Given the description of an element on the screen output the (x, y) to click on. 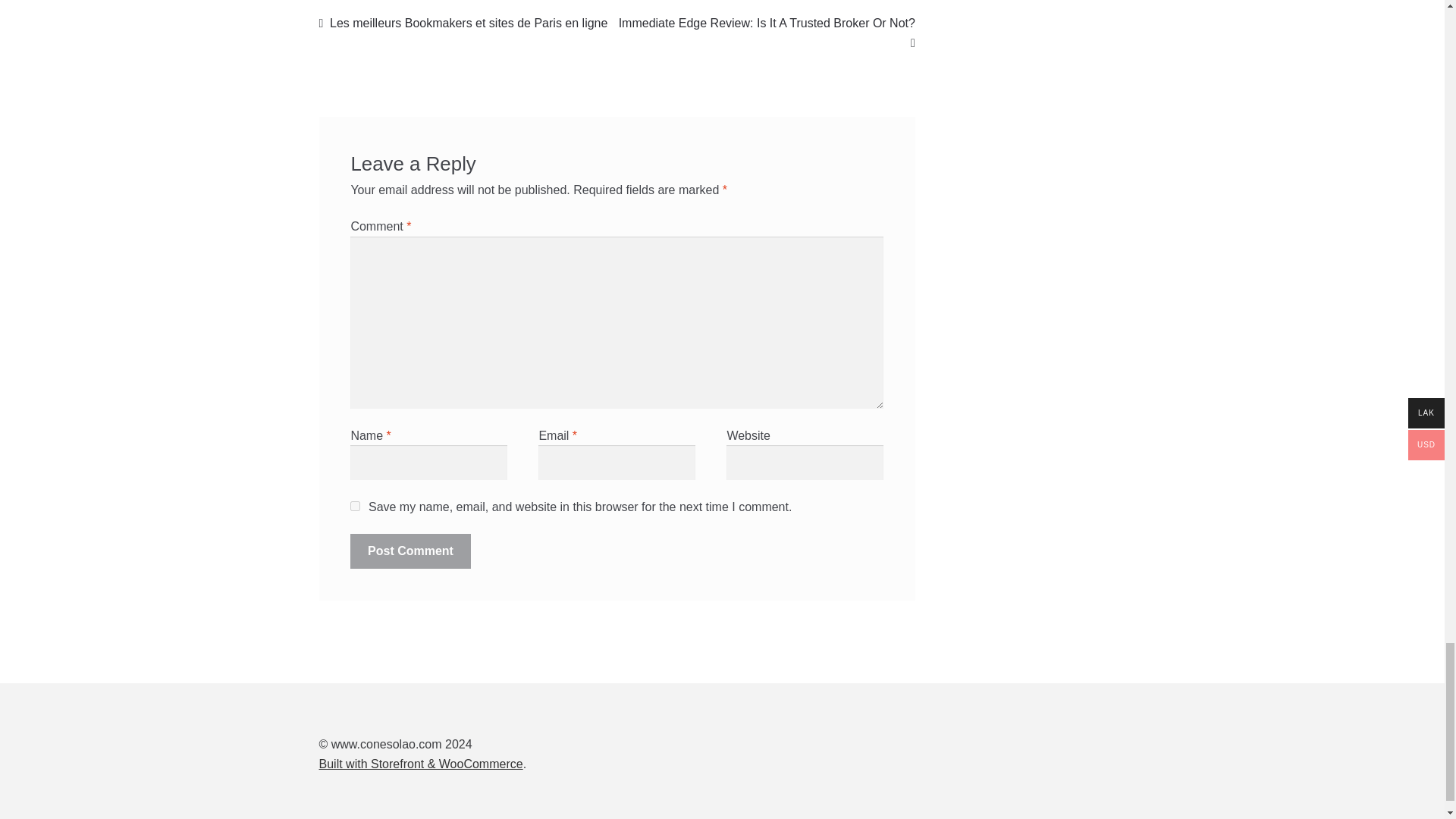
Post Comment (410, 550)
Post Comment (410, 550)
yes (354, 506)
WooCommerce - The Best eCommerce Platform for WordPress (420, 763)
